Given the description of an element on the screen output the (x, y) to click on. 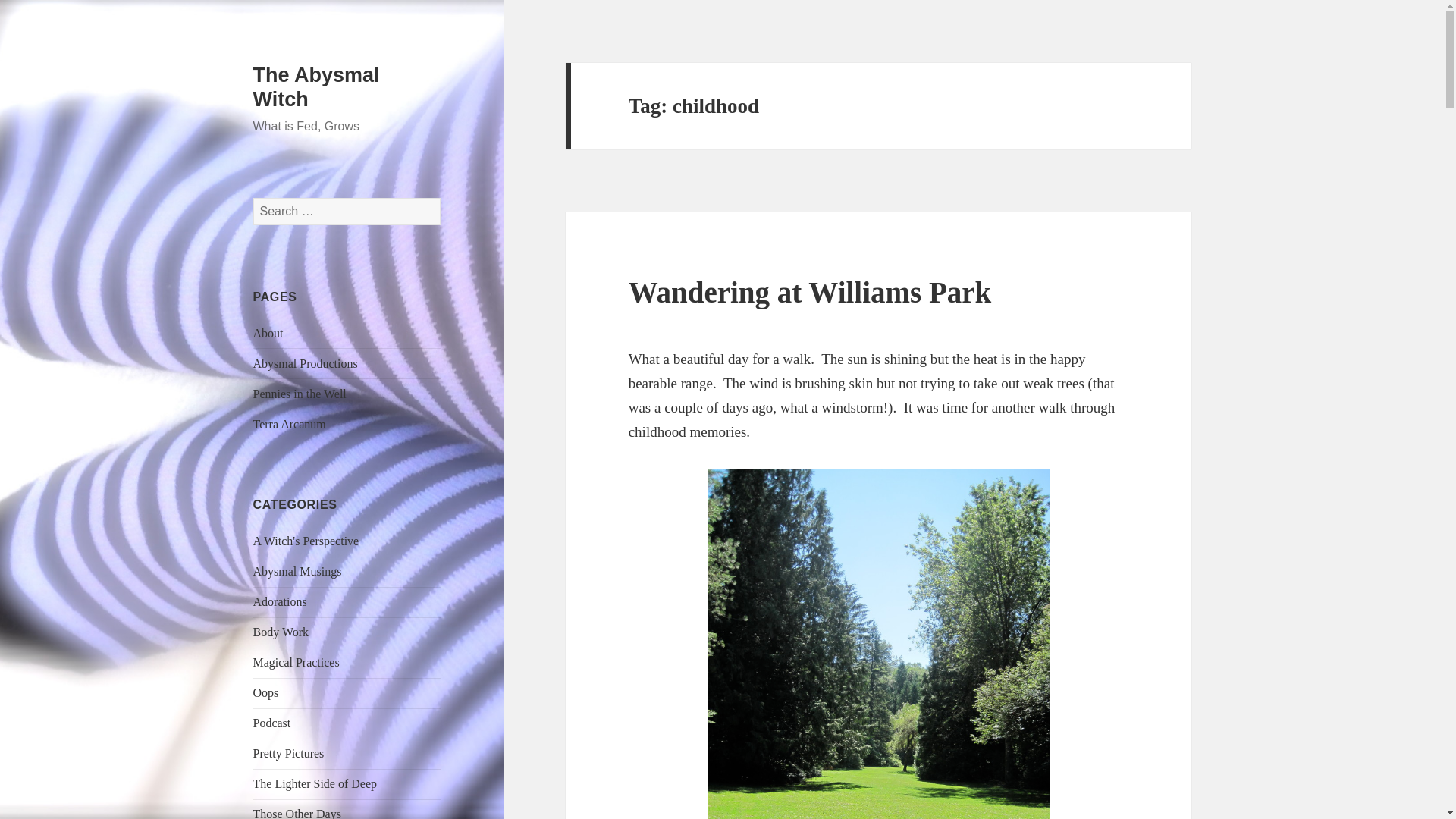
Podcast (272, 722)
Body Work (280, 631)
Magical Practices (296, 662)
Abysmal Productions (305, 363)
Pretty Pictures (288, 753)
Oops (266, 692)
Terra Arcanum (289, 423)
Adorations (280, 601)
The Lighter Side of Deep (315, 783)
Abysmal Musings (297, 571)
A Witch's Perspective (306, 540)
1007 will-park (878, 643)
